Given the description of an element on the screen output the (x, y) to click on. 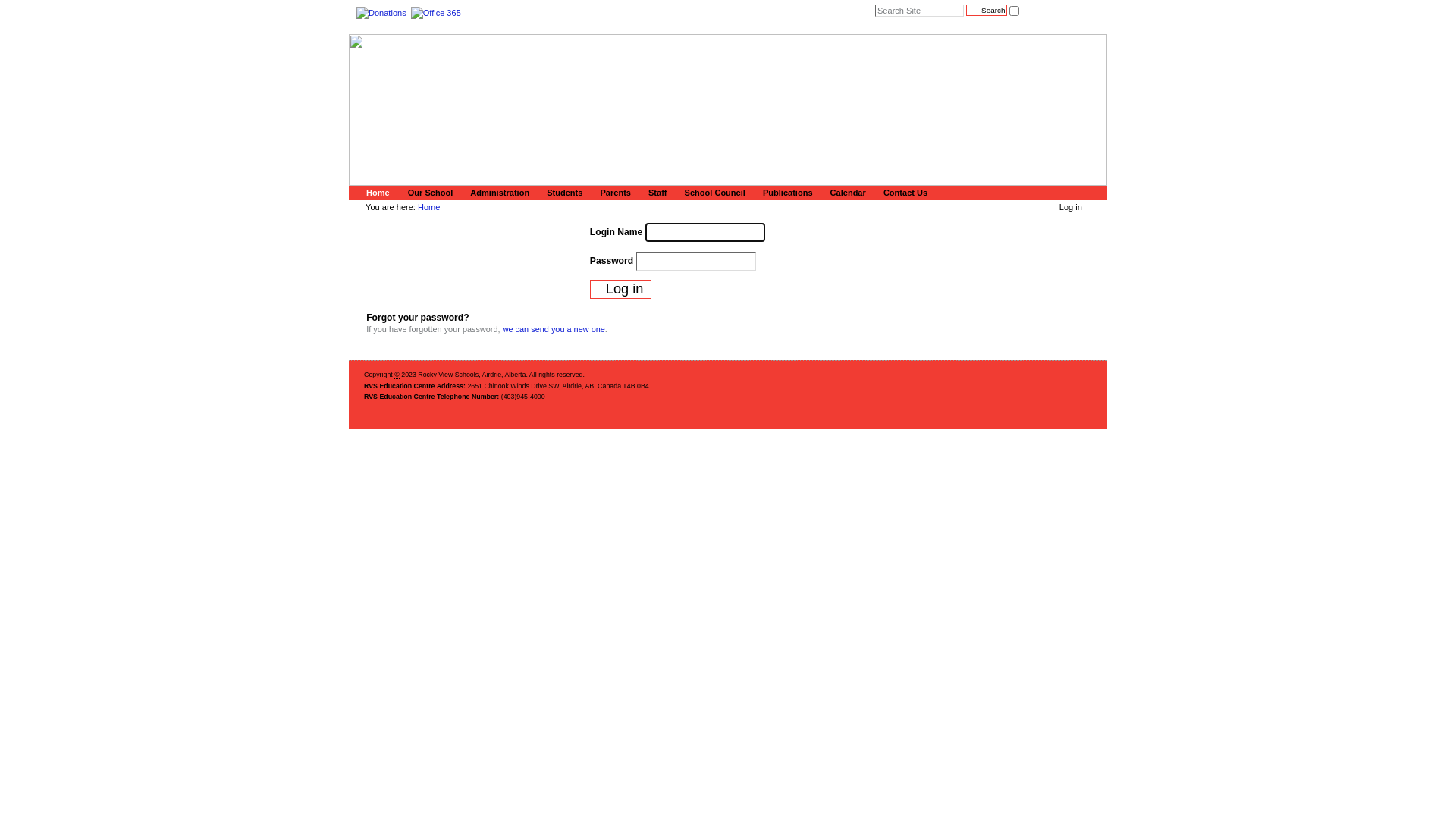
School Council Element type: text (712, 192)
Log in Element type: text (1070, 206)
Administration Element type: text (497, 192)
Staff Element type: text (655, 192)
Our School Element type: text (427, 192)
Publications Element type: text (784, 192)
Search Element type: text (986, 9)
Contact Element type: text (924, 439)
Parents Element type: text (612, 192)
Donations Element type: hover (381, 11)
Search Site Element type: hover (919, 10)
Office 365 Element type: hover (436, 11)
Privacy Policy Element type: text (979, 439)
Log in Element type: text (620, 288)
Home Element type: text (375, 192)
Calendar Element type: text (845, 192)
Terms of Service Element type: text (1052, 439)
Site Map Element type: text (818, 439)
Home Element type: text (428, 206)
Contact Us Element type: text (902, 192)
we can send you a new one Element type: text (553, 329)
Accessibility Element type: text (871, 439)
Students Element type: text (561, 192)
